Given the description of an element on the screen output the (x, y) to click on. 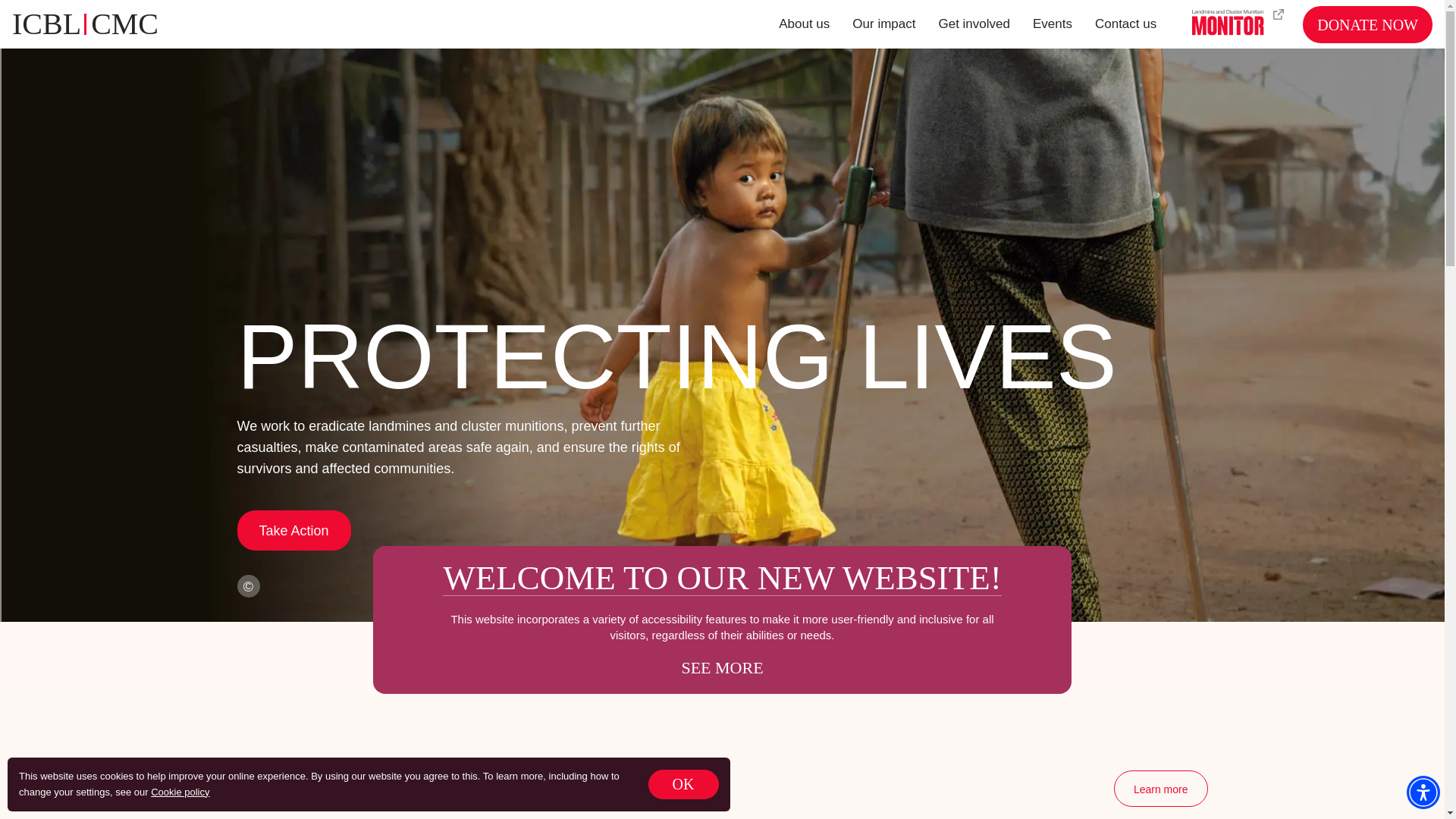
DONATE NOW (1367, 24)
Learn more (1160, 788)
Get involved (974, 23)
Accessibility Menu (1422, 792)
Events (129, 24)
SEE MORE (1052, 23)
About us (720, 668)
Contact us (804, 23)
Our impact (1125, 23)
Take Action (883, 23)
